Given the description of an element on the screen output the (x, y) to click on. 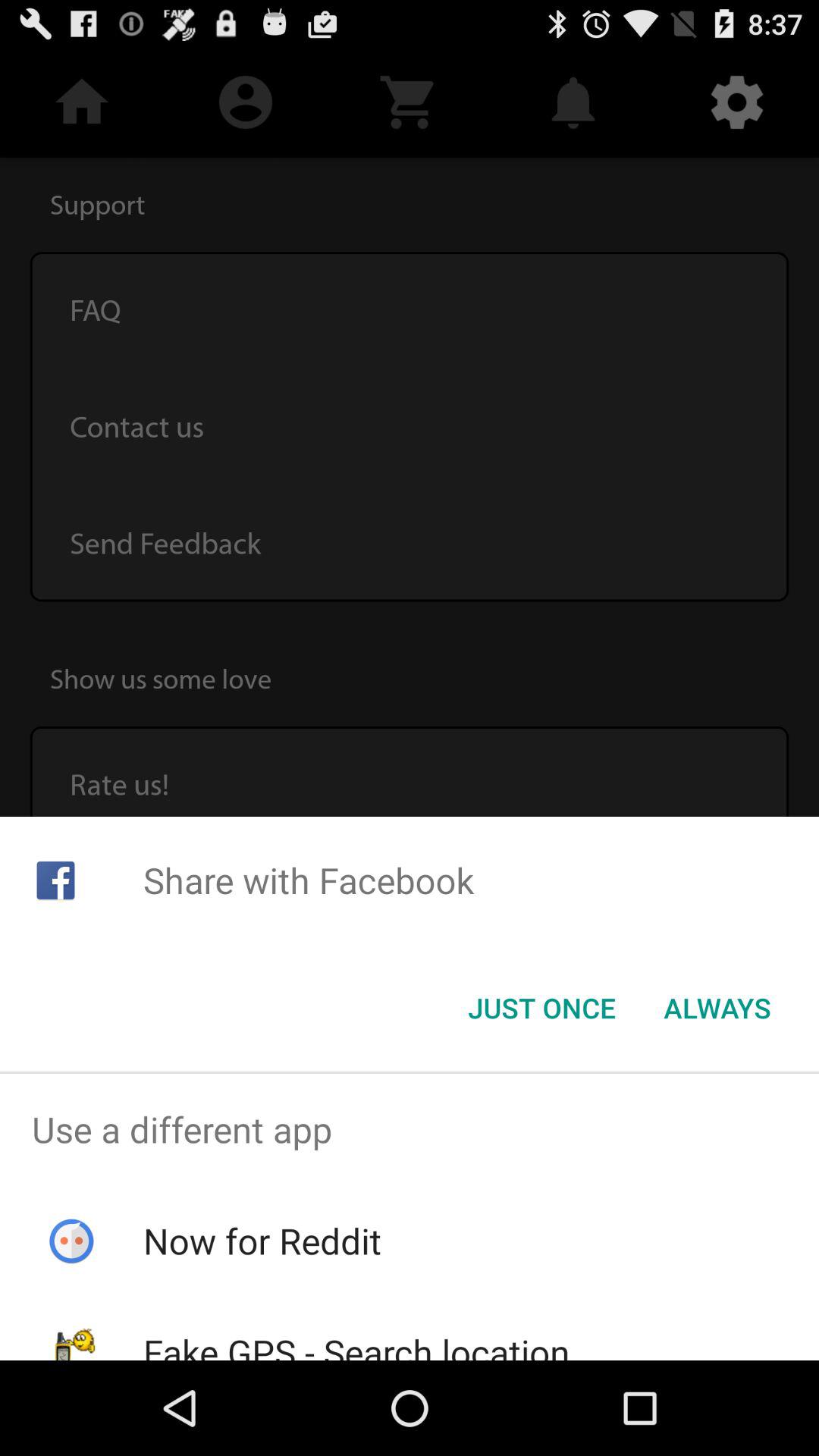
choose the just once item (541, 1007)
